Given the description of an element on the screen output the (x, y) to click on. 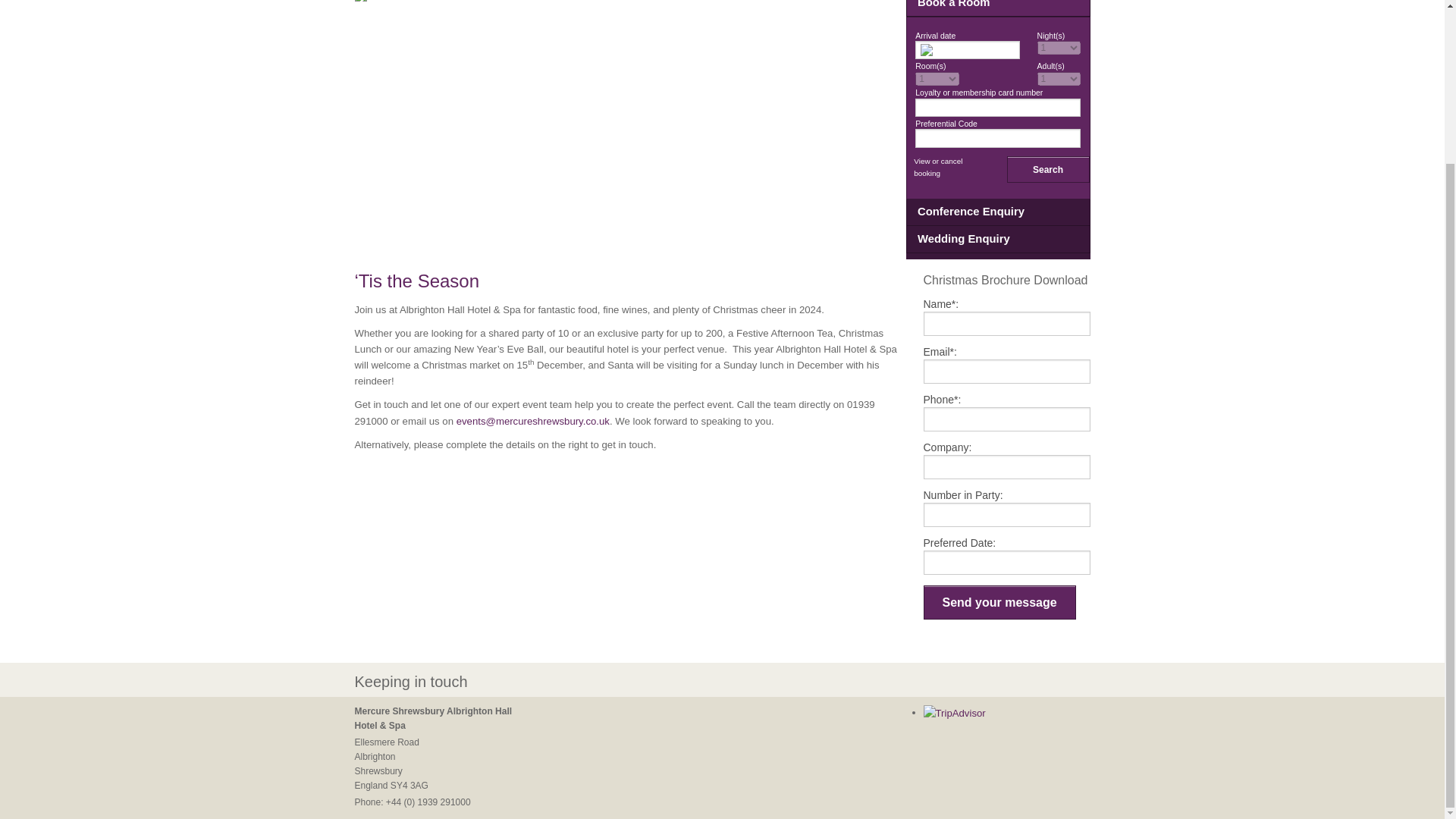
facebook (930, 682)
Search (1048, 169)
Arrival date calendar (968, 50)
Send your message (999, 602)
